Given the description of an element on the screen output the (x, y) to click on. 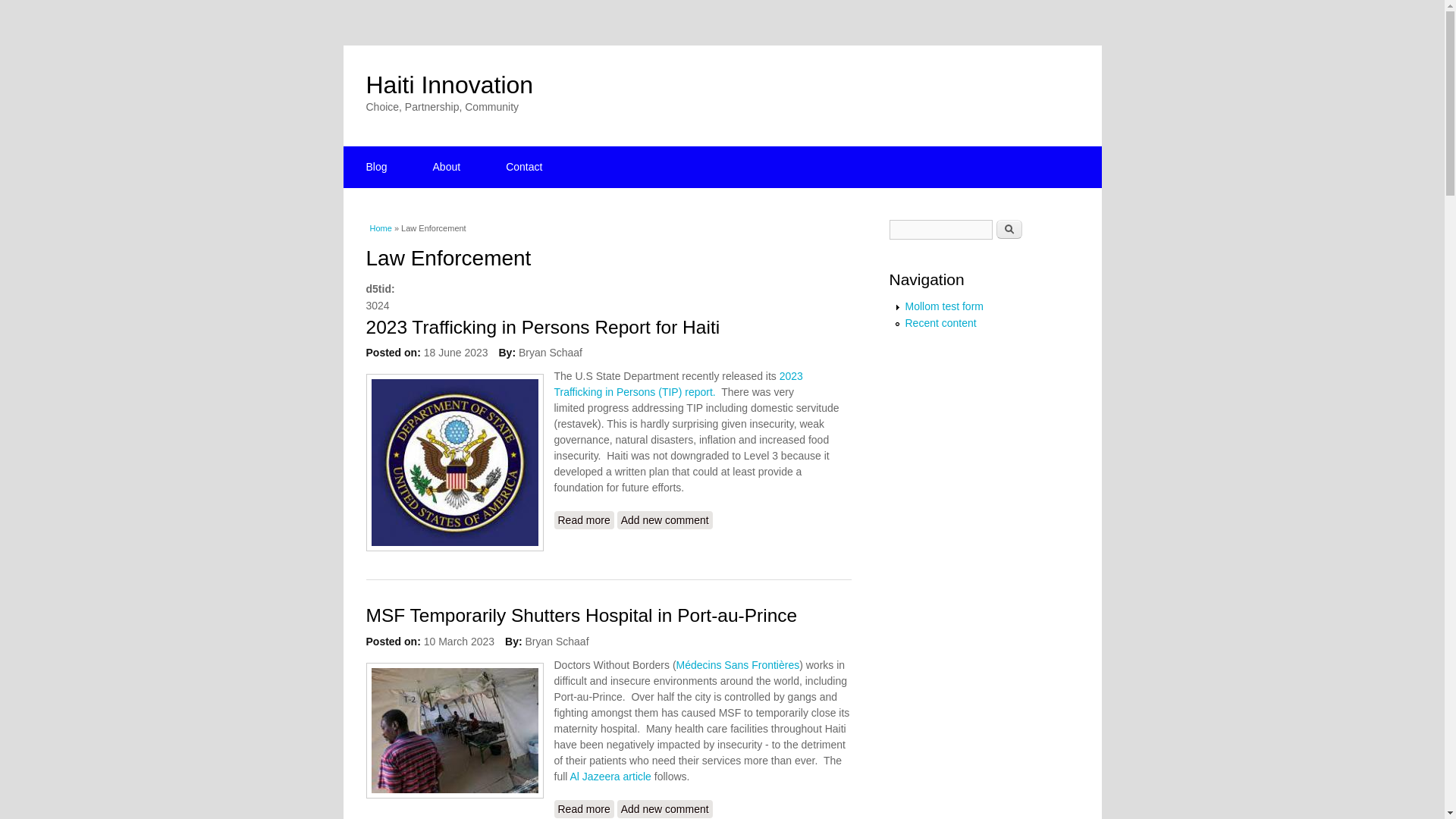
2023 Trafficking in Persons Report for Haiti (542, 326)
Search (1008, 229)
Add new comment (665, 809)
Blog (375, 167)
Add a new comment to this page. (665, 520)
MSF Temporarily Shutters Hospital in Port-au-Prince (580, 615)
Al Jazeera article (610, 776)
MSF Temporarily Shutters Hospital in Port-au-Prince (582, 809)
2023 Trafficking in Persons Report for Haiti  (582, 520)
Home (380, 227)
About Haiti Innovation (446, 167)
Add new comment (665, 520)
About (446, 167)
Contact (523, 167)
